Given the description of an element on the screen output the (x, y) to click on. 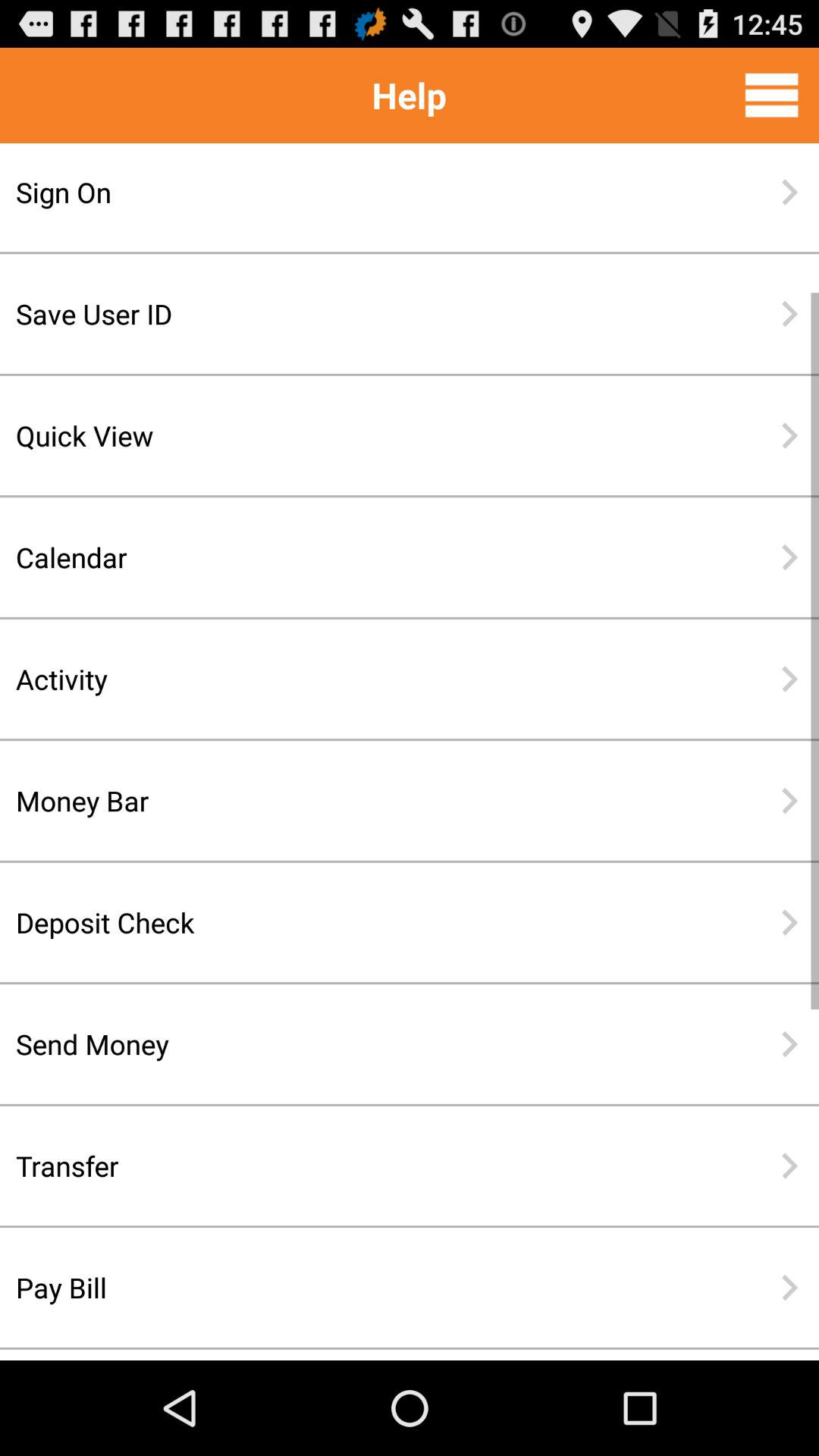
choose the quick view (359, 435)
